Given the description of an element on the screen output the (x, y) to click on. 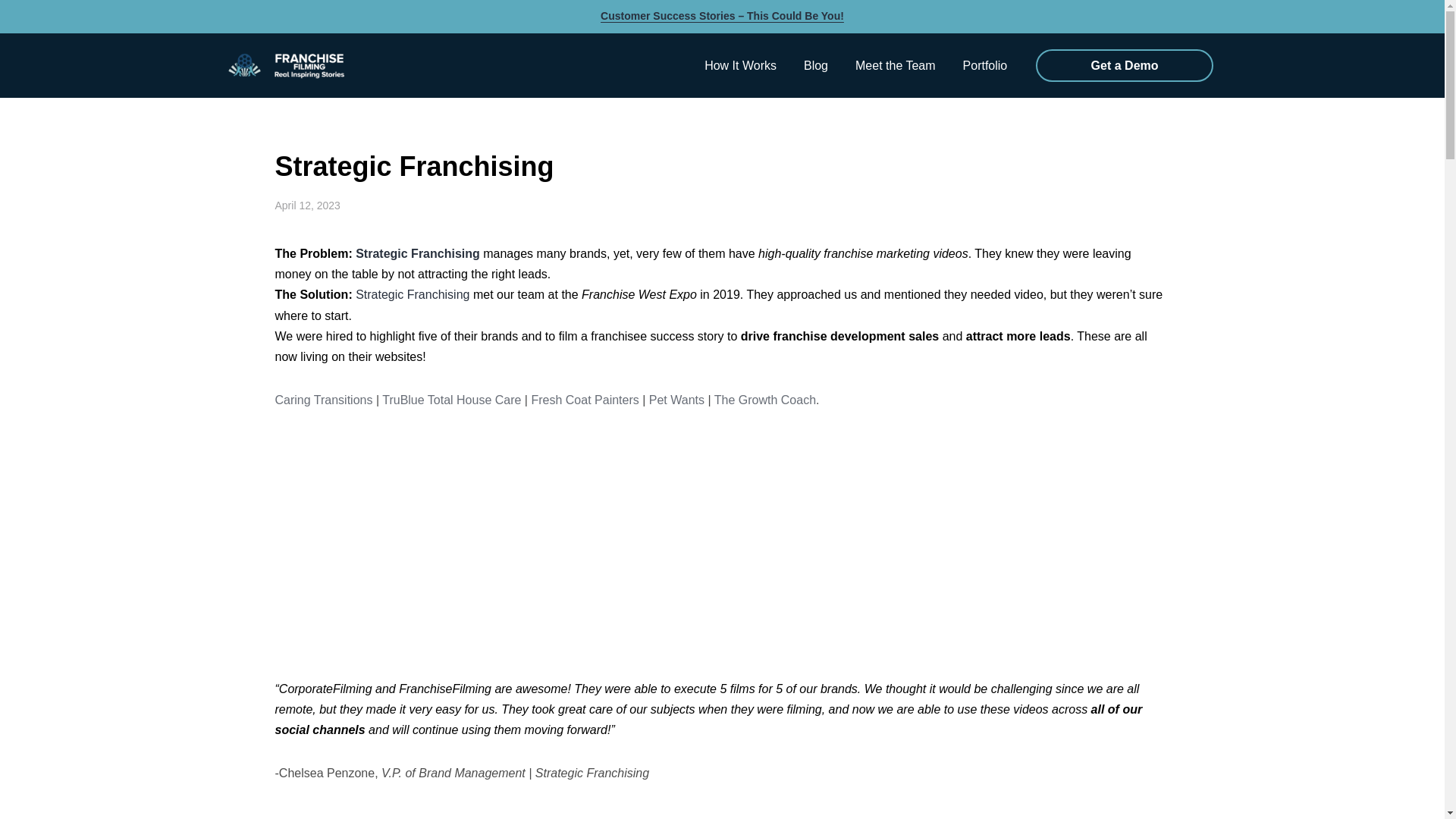
Get a Demo (1123, 65)
Pet Wants (676, 399)
Caring Transitions (323, 399)
Strategic Franchising (417, 253)
The Growth Coach (764, 399)
Portfolio (985, 65)
How It Works (740, 65)
TruBlue Total House Care (451, 399)
Strategic Franchising (411, 294)
Fresh Coat Painters (585, 399)
